Given the description of an element on the screen output the (x, y) to click on. 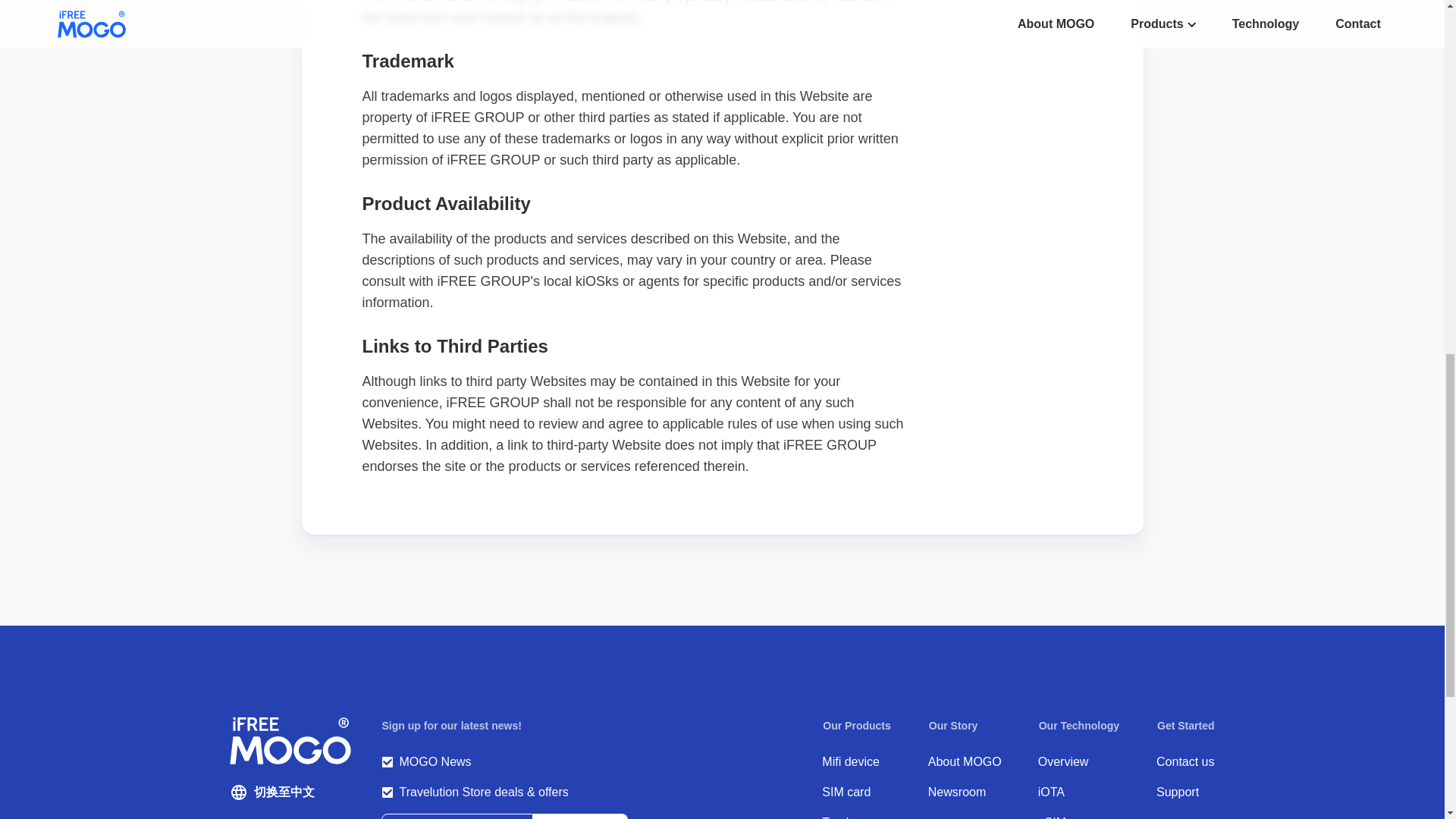
Newsroom (964, 791)
About MOGO (964, 761)
Overview (1078, 761)
Subscribe (579, 816)
eSIM (1078, 816)
Tracker (856, 816)
Support (1185, 791)
Subscribe (579, 816)
Contact us (1185, 761)
iOTA (1078, 791)
